Given the description of an element on the screen output the (x, y) to click on. 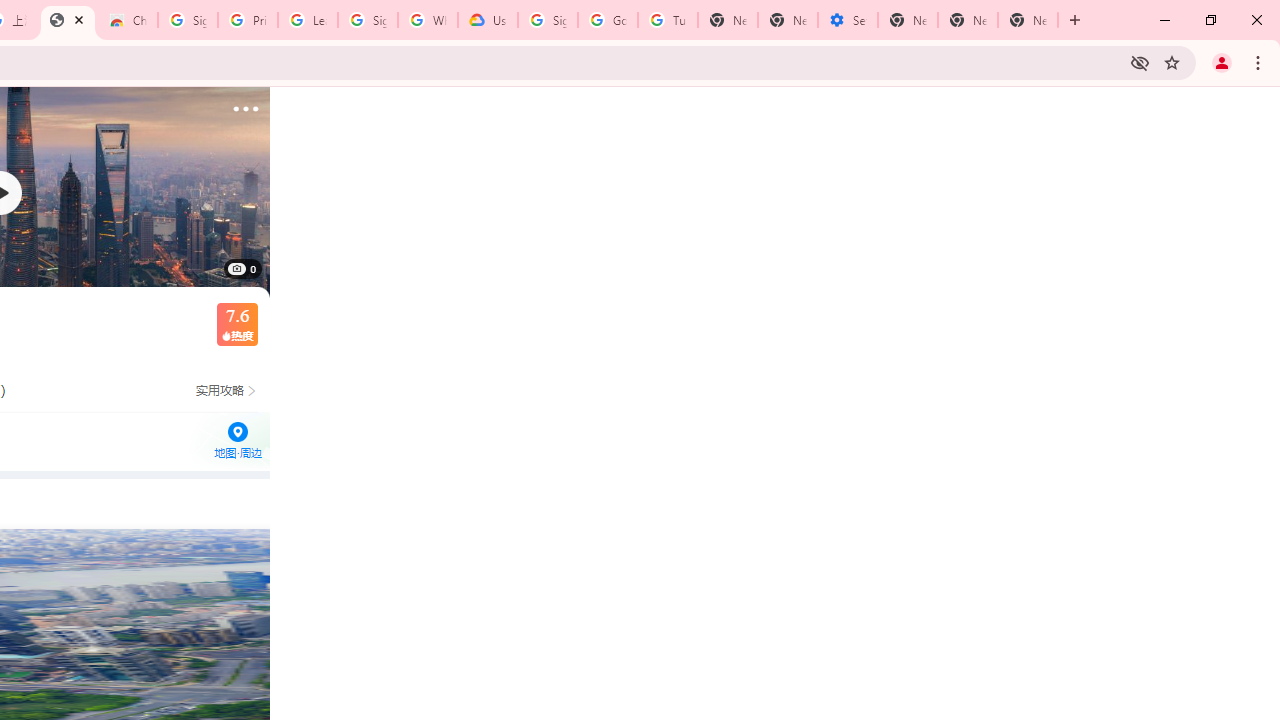
Sign in - Google Accounts (367, 20)
Chrome (1260, 62)
Google Account Help (607, 20)
New Tab (1028, 20)
